Given the description of an element on the screen output the (x, y) to click on. 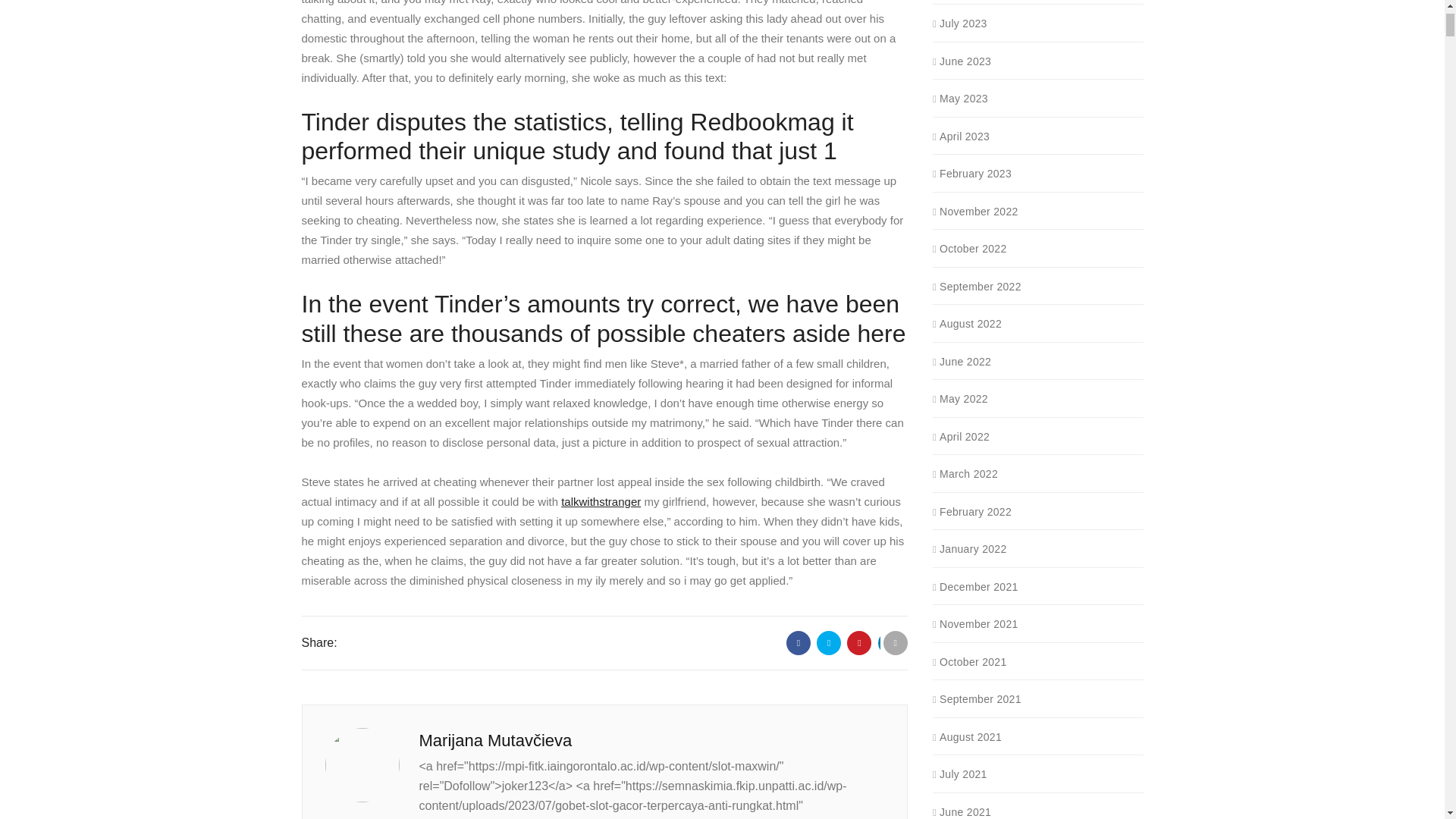
July 2023 (961, 23)
talkwithstranger (600, 501)
